Given the description of an element on the screen output the (x, y) to click on. 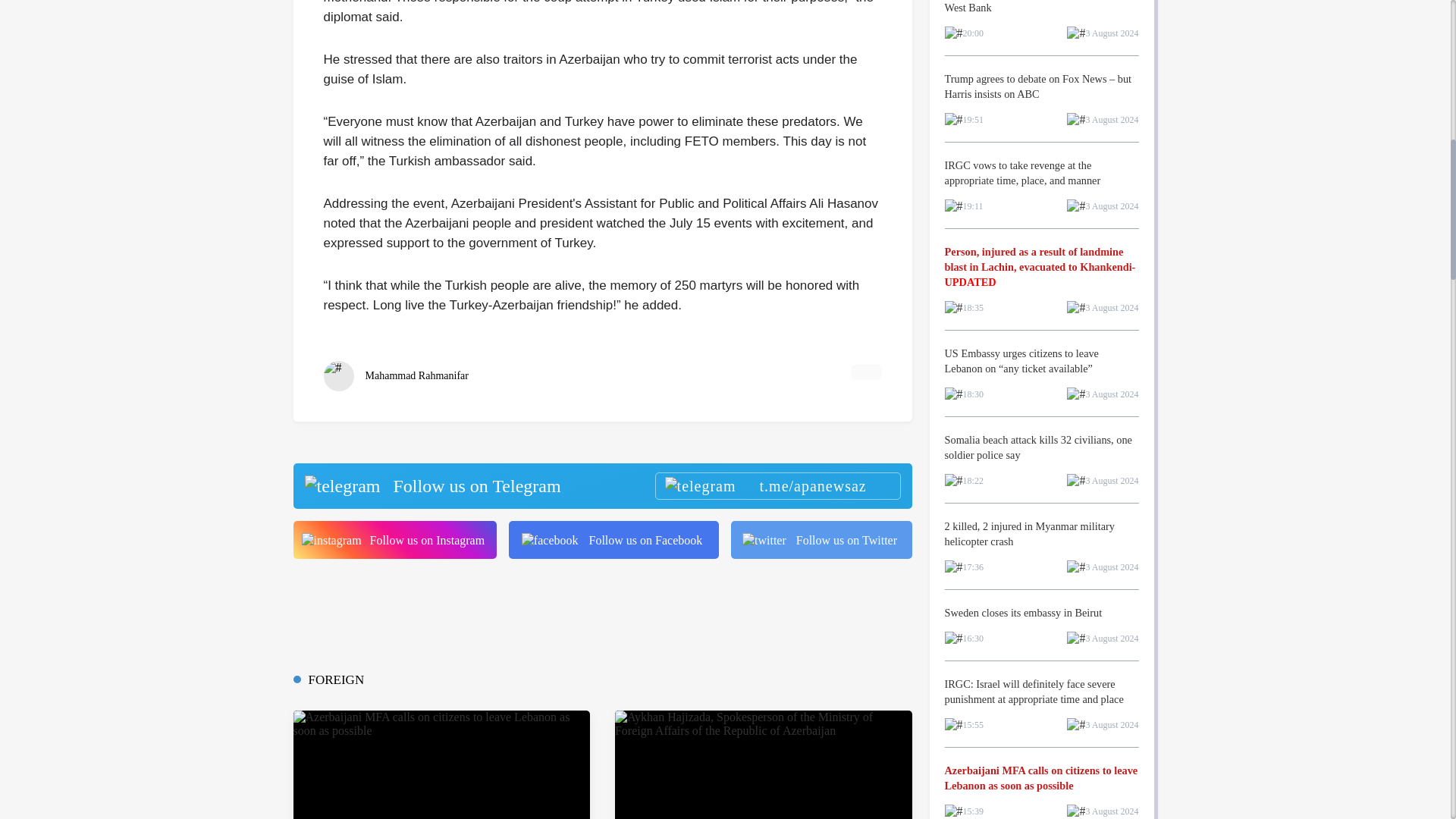
Follow us on Instagram (394, 539)
Follow us on Facebook (613, 539)
Follow us on Twitter (821, 539)
Follow us on Telegram (601, 485)
